Given the description of an element on the screen output the (x, y) to click on. 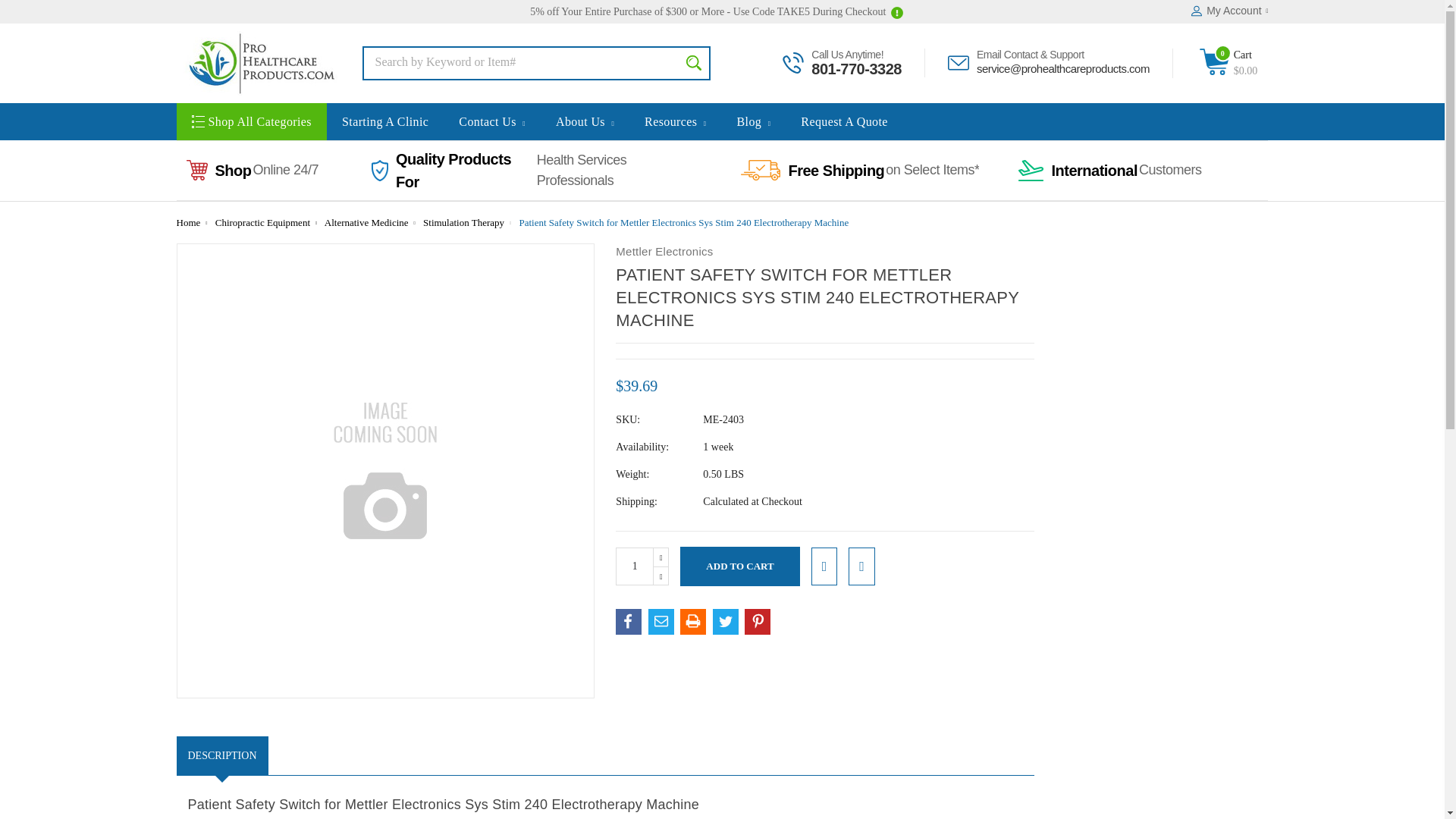
Add to Cart (739, 566)
My Account (1229, 11)
prohealthcareproducts.com (257, 63)
1 (634, 566)
